Given the description of an element on the screen output the (x, y) to click on. 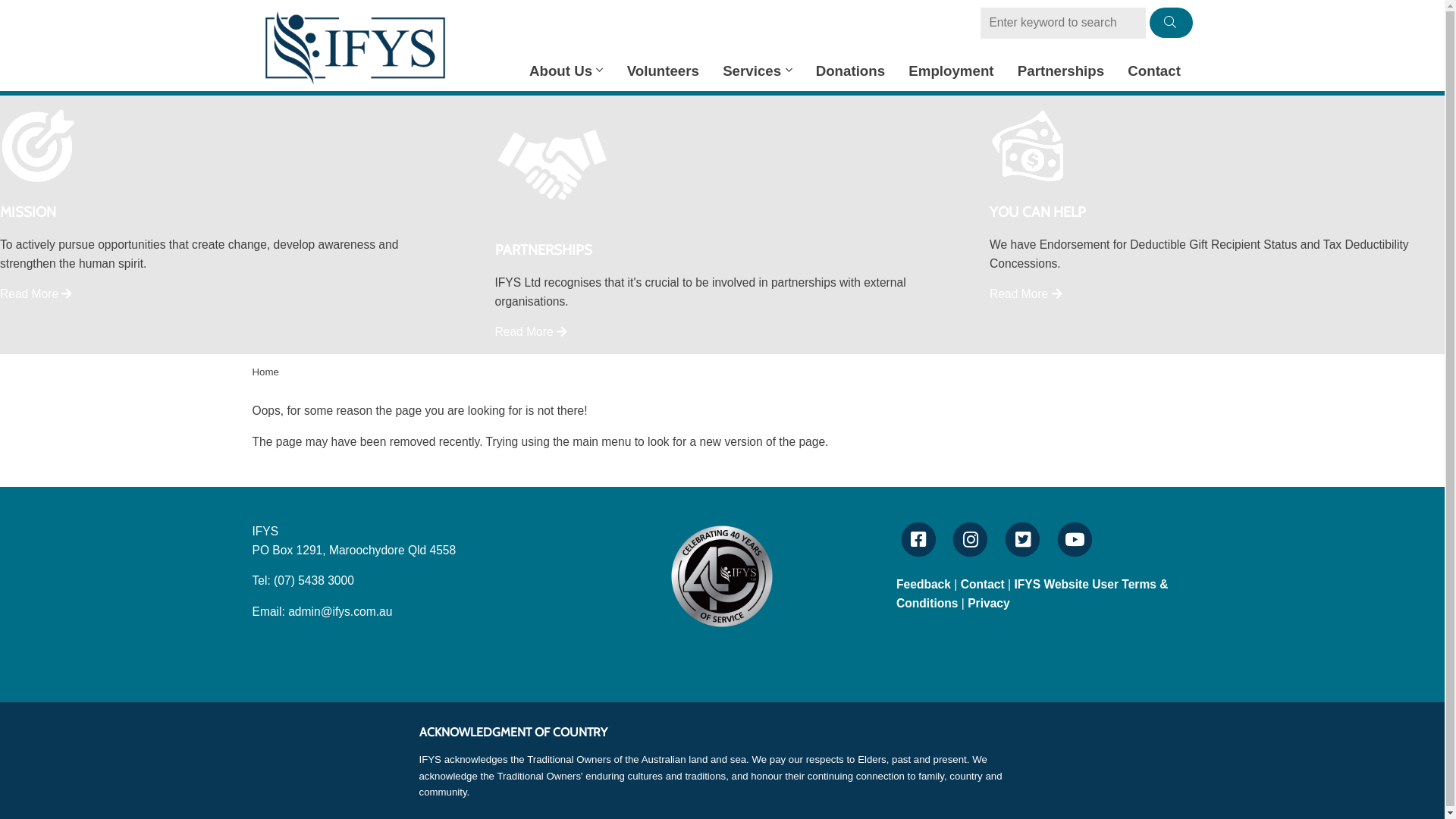
IFYS Ltd on Instagram Element type: hover (972, 540)
Read More Element type: text (36, 293)
IFYS Ltd on Facebook Element type: hover (920, 540)
Read More Element type: text (531, 331)
Contact Element type: text (982, 583)
Contact Element type: text (1153, 71)
IFYS Website User Terms & Conditions Element type: text (1032, 593)
IFYS Ltd on Twitter Element type: hover (1024, 540)
Volunteers Element type: text (663, 71)
IFYS Ltd on YouTube Element type: hover (1076, 540)
Donations Element type: text (849, 71)
Privacy Element type: text (988, 602)
Read More Element type: text (1025, 293)
IFYS Ltd Element type: hover (353, 47)
Partnerships Element type: text (1060, 71)
About Us Element type: text (566, 71)
Employment Element type: text (950, 71)
Feedback Element type: text (923, 583)
Tel: (07) 5438 3000 Element type: text (302, 580)
Email: admin@ifys.com.au Element type: text (321, 611)
Services Element type: text (756, 71)
Home Element type: text (264, 371)
